Given the description of an element on the screen output the (x, y) to click on. 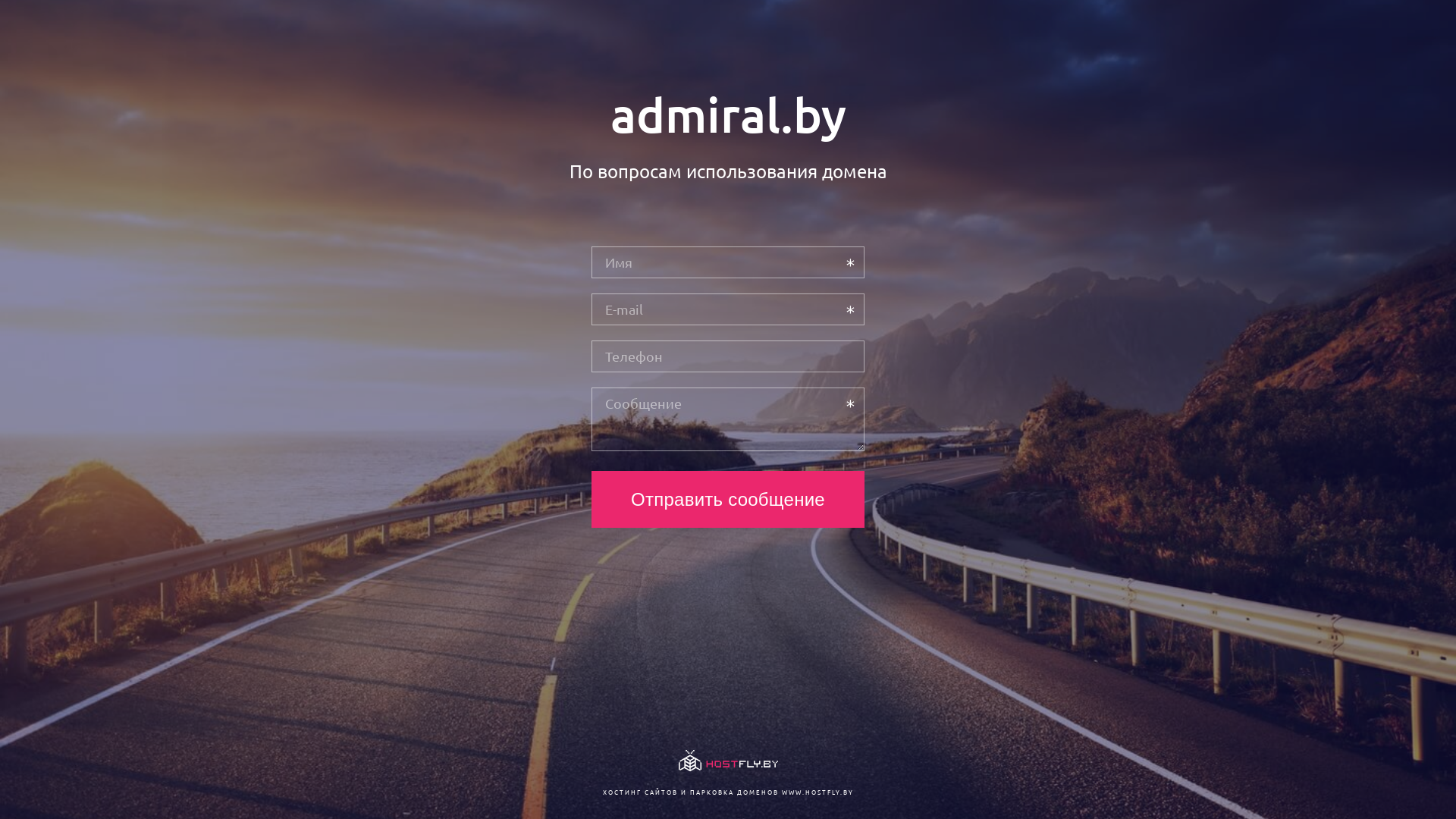
WWW.HOSTFLY.BY Element type: text (817, 791)
